Given the description of an element on the screen output the (x, y) to click on. 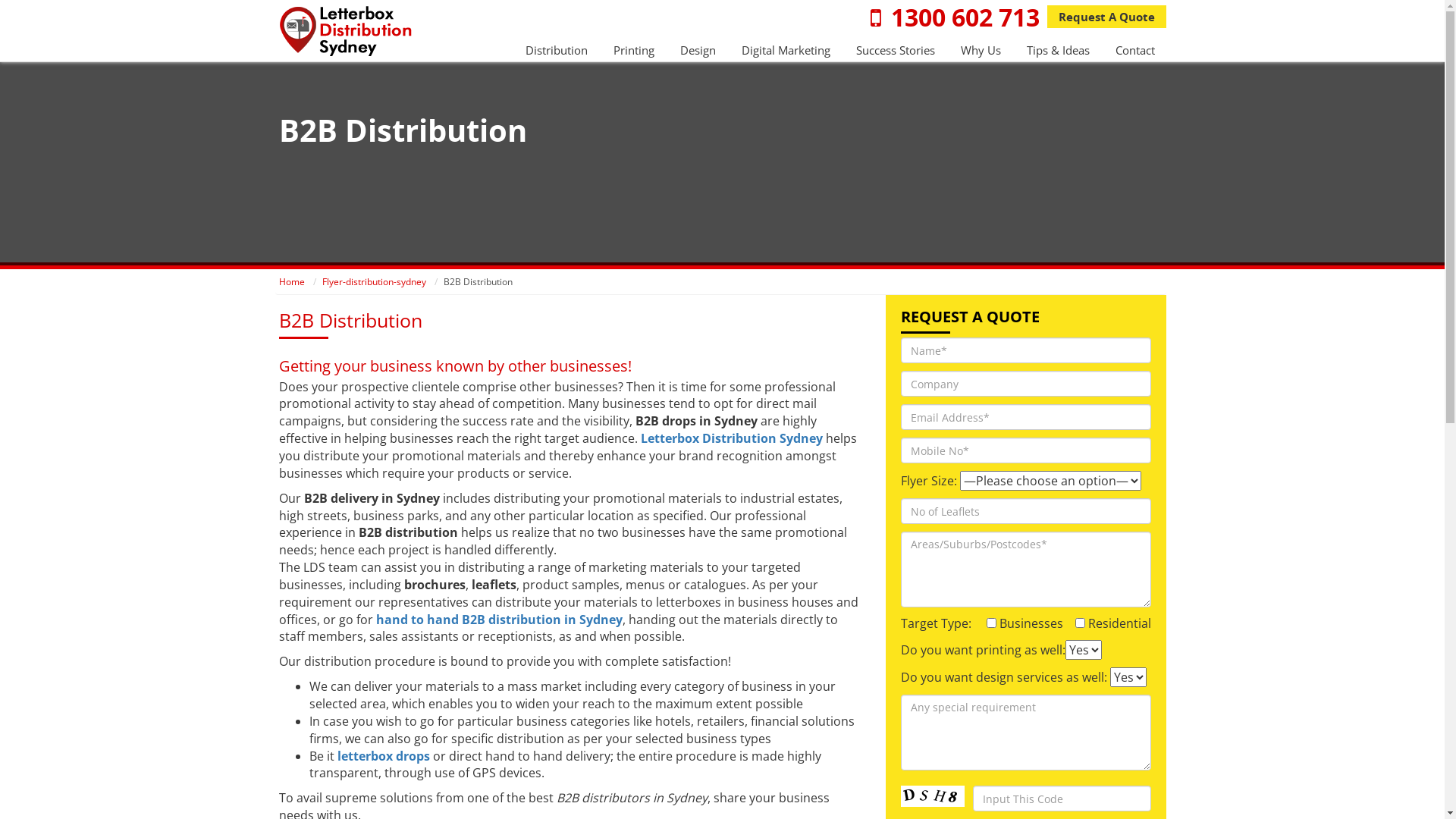
Digital Marketing Element type: text (785, 49)
Tips & Ideas Element type: text (1058, 49)
Design Element type: text (696, 49)
Success Stories Element type: text (894, 49)
Letterbox Distribution Sydney Element type: text (731, 437)
Home Element type: text (291, 281)
Request A Quote Element type: text (1105, 16)
Printing Element type: text (633, 49)
letterbox drops Element type: text (382, 755)
Contact Element type: text (1134, 49)
Why Us Element type: text (979, 49)
hand to hand B2B distribution in Sydney Element type: text (499, 619)
Distribution Element type: text (555, 49)
Flyer-distribution-sydney Element type: text (373, 281)
